Given the description of an element on the screen output the (x, y) to click on. 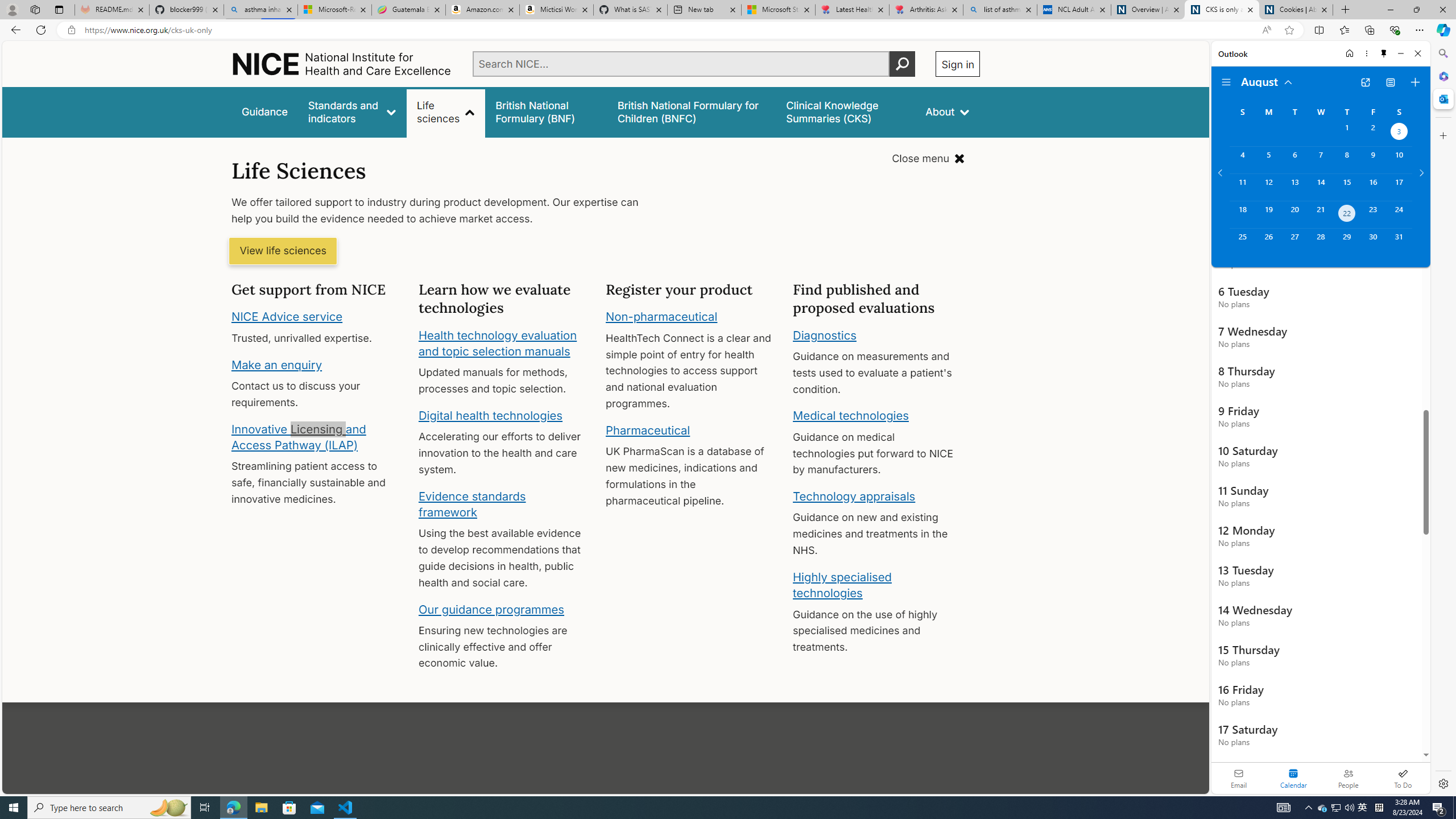
About (947, 111)
Saturday, August 31, 2024.  (1399, 241)
British National Formulary for Children (BNFC) (691, 111)
Pharmaceutical (647, 429)
Technology appraisals (854, 495)
Non-pharmaceutical (661, 316)
list of asthma inhalers uk - Search (1000, 9)
